Given the description of an element on the screen output the (x, y) to click on. 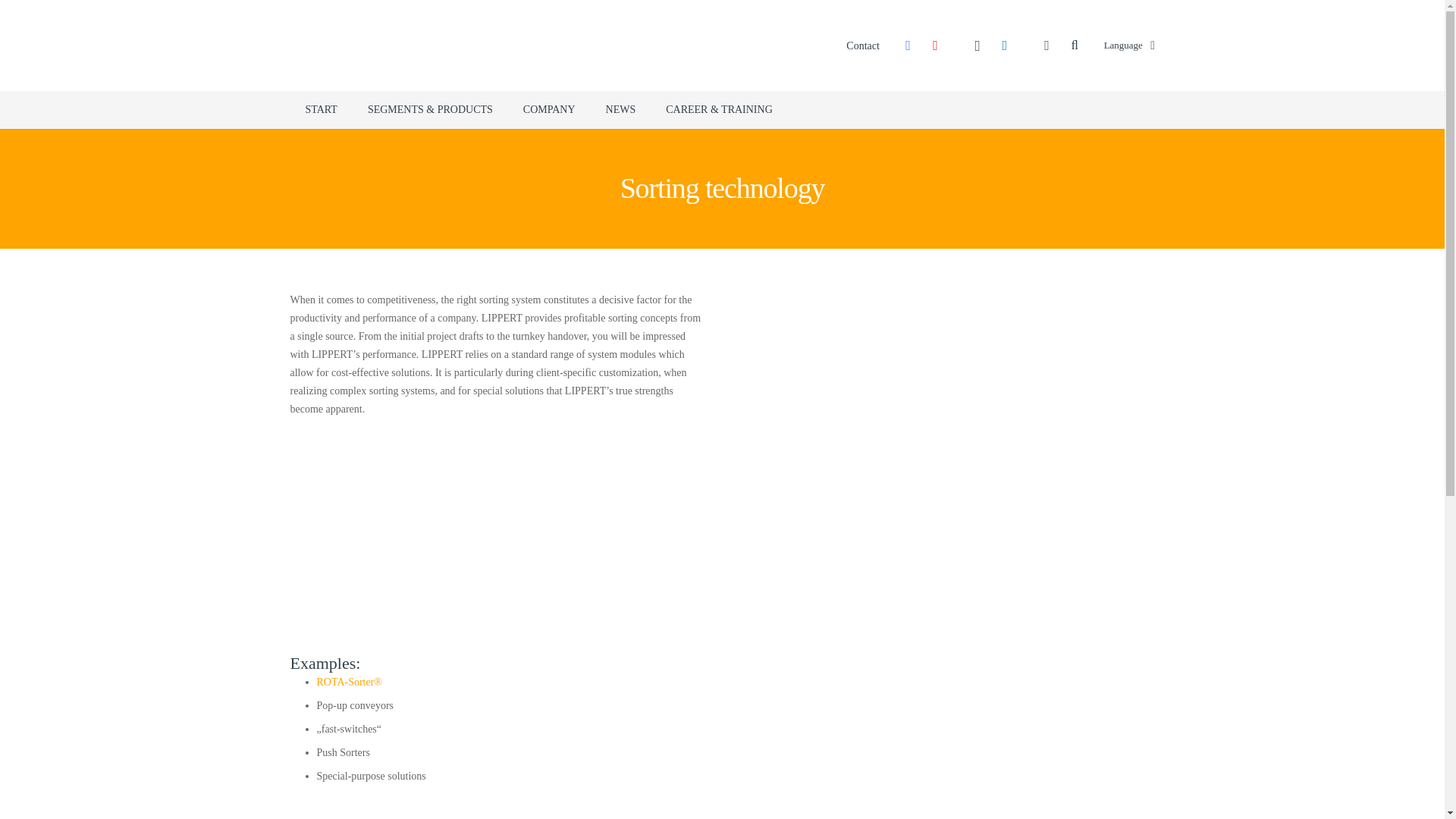
Instagram (977, 44)
Xing (1047, 44)
LinkedIn (1004, 44)
START (320, 109)
COMPANY (549, 109)
Facebook (907, 44)
YouTube (935, 44)
Language (1129, 45)
NEWS (620, 109)
Contact (862, 44)
